Given the description of an element on the screen output the (x, y) to click on. 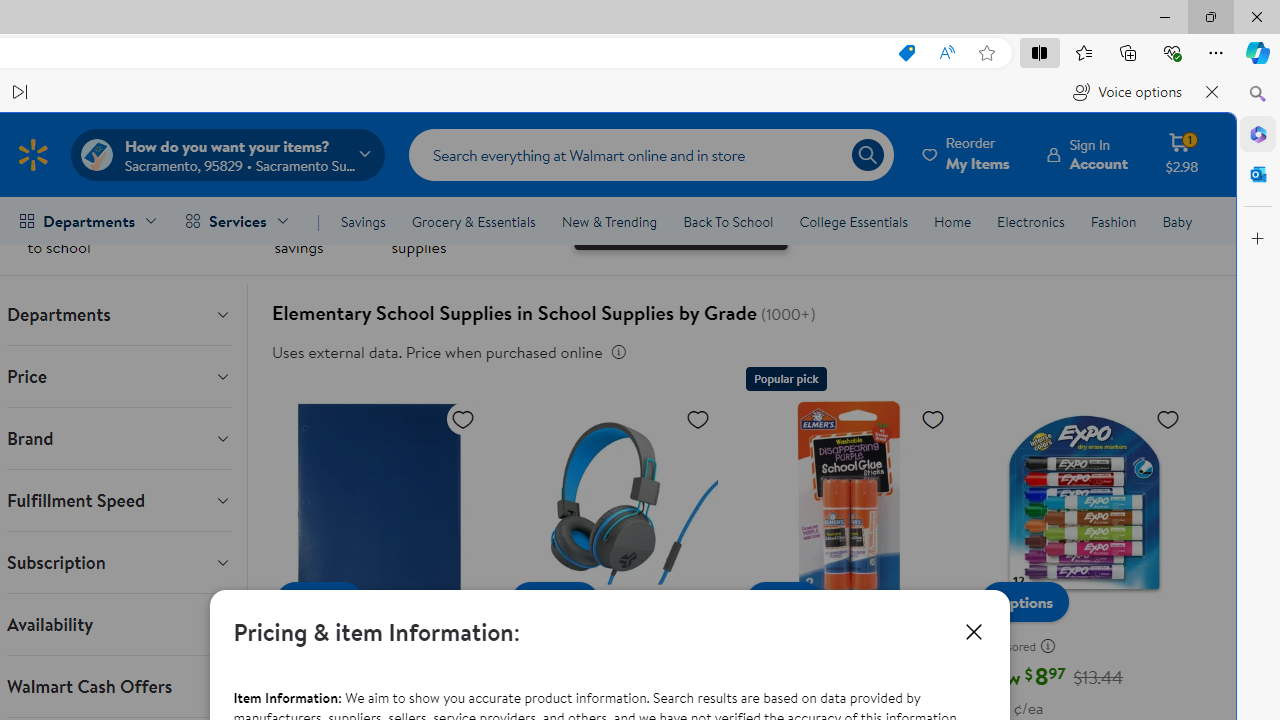
Read next paragraph (19, 92)
